Given the description of an element on the screen output the (x, y) to click on. 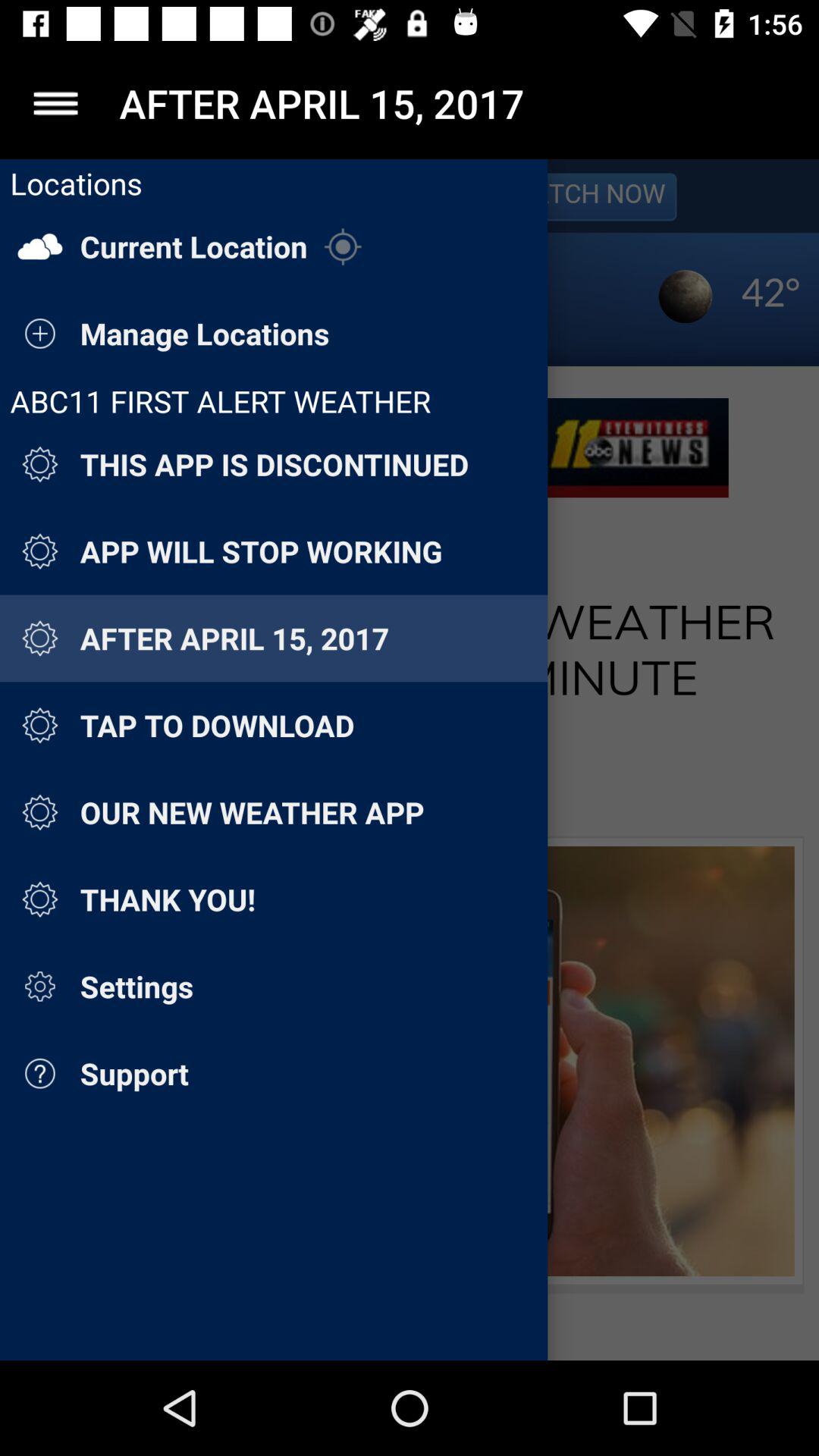
locations menu (409, 759)
